Given the description of an element on the screen output the (x, y) to click on. 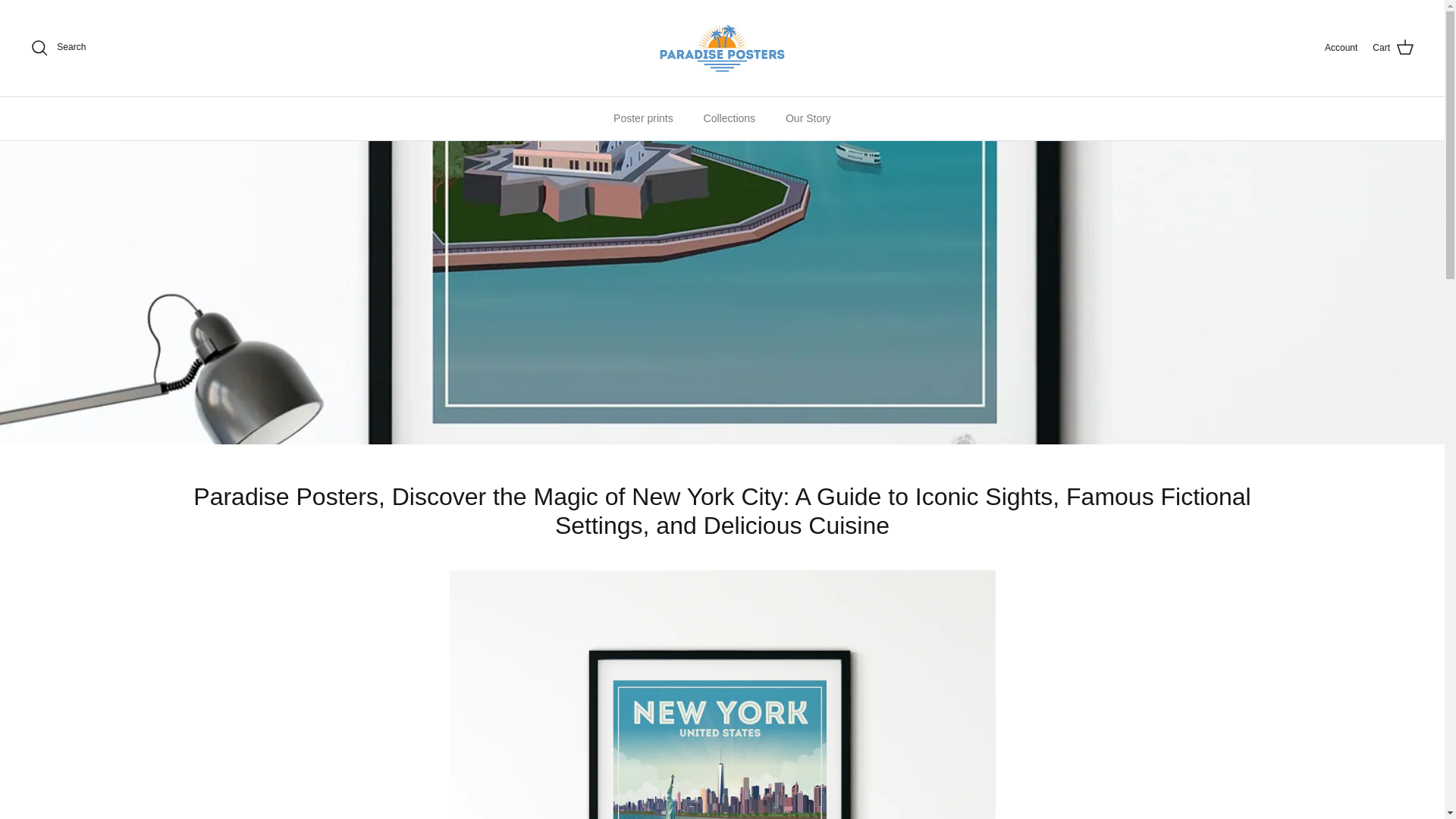
Collections (729, 118)
Poster prints (643, 118)
Cart (1393, 47)
Paradise Posters (721, 48)
Account (1340, 47)
Our Story (807, 118)
Search (57, 47)
